Given the description of an element on the screen output the (x, y) to click on. 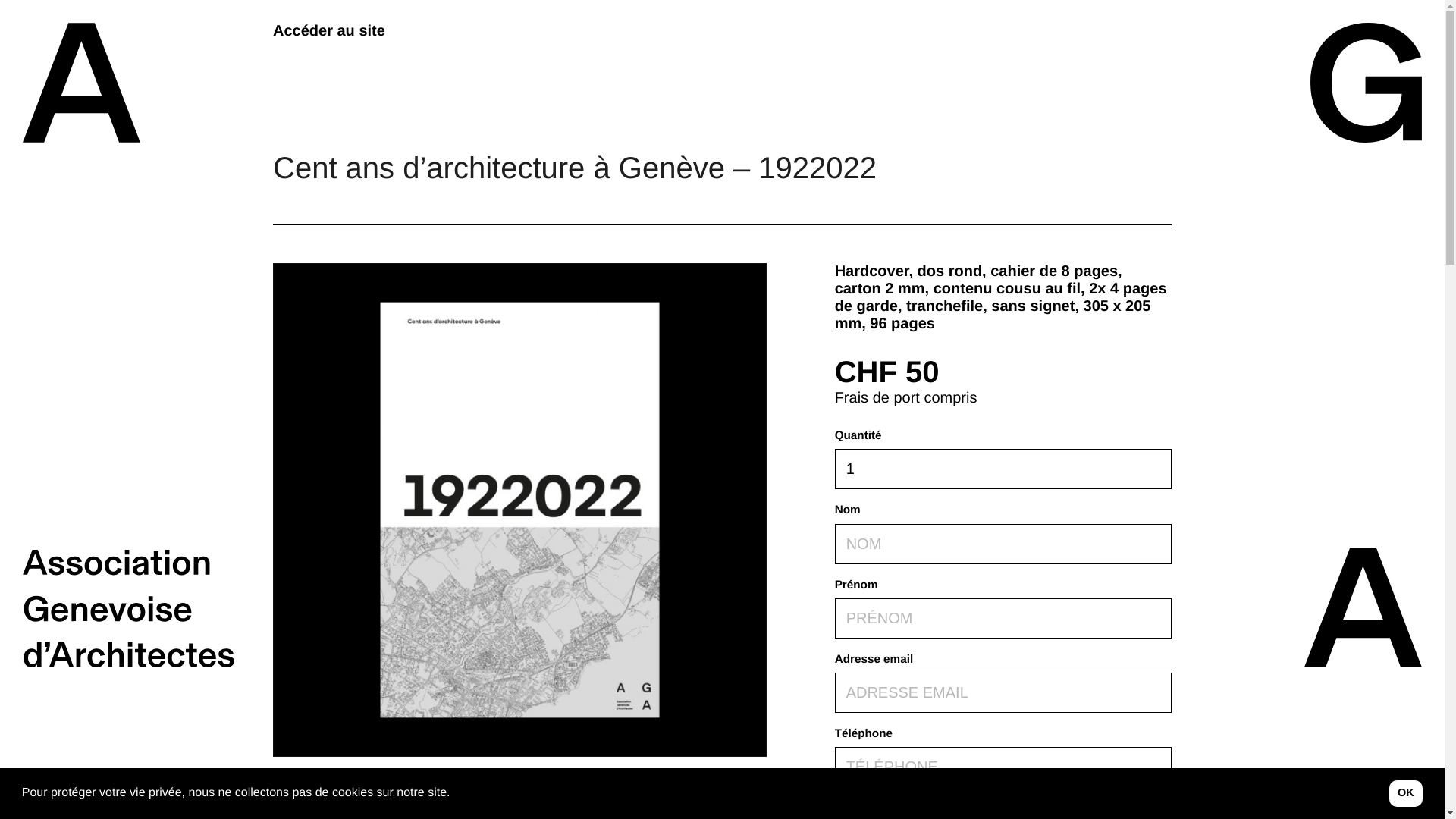
OK Element type: text (1406, 792)
